Given the description of an element on the screen output the (x, y) to click on. 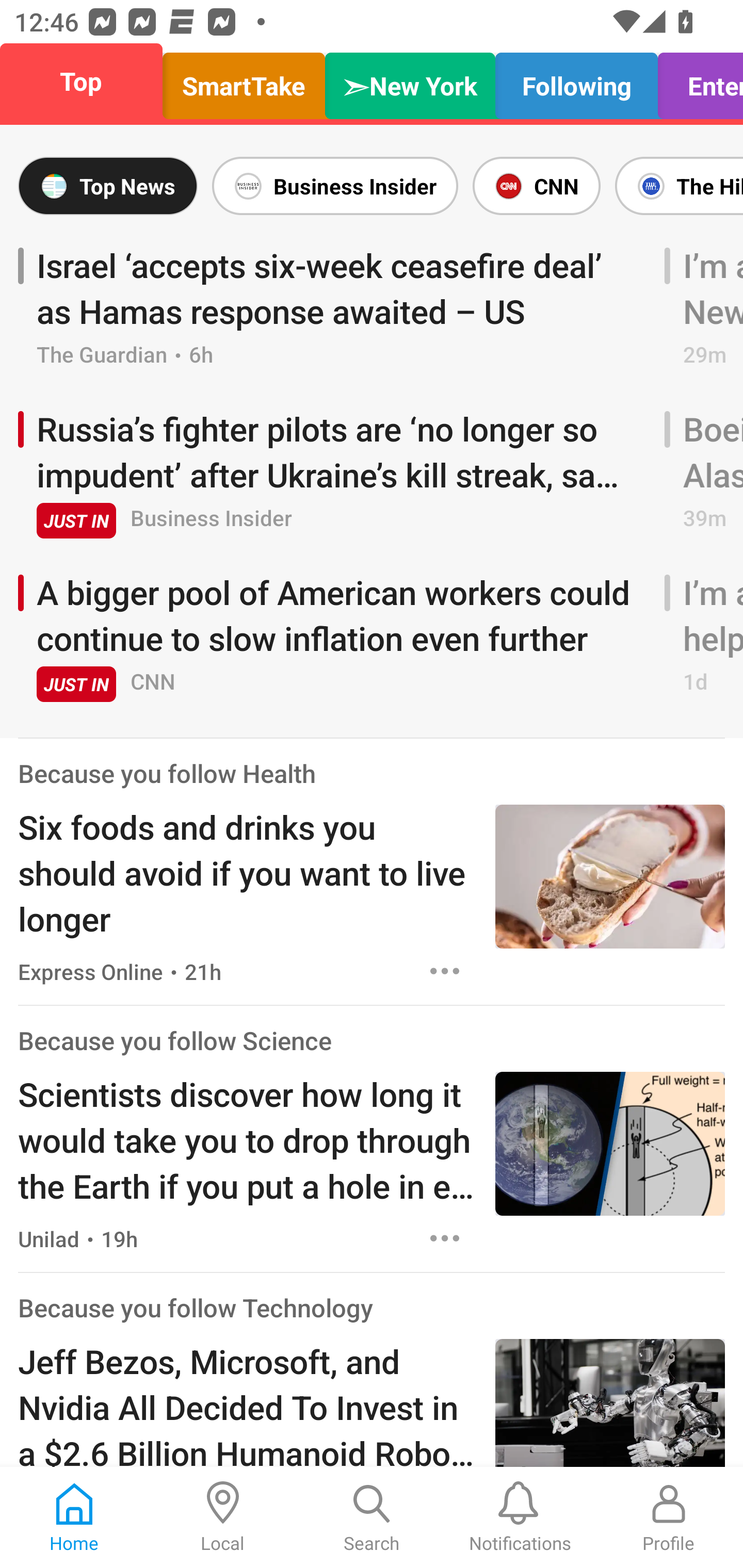
Top (86, 81)
SmartTake (243, 81)
➣New York (409, 81)
Following (576, 81)
Business Insider (335, 185)
CNN (536, 185)
JUST IN (75, 520)
JUST IN (75, 684)
Because you follow Health (166, 772)
Options (444, 971)
Because you follow Science (174, 1039)
Options (444, 1238)
Because you follow Technology (195, 1307)
Local (222, 1517)
Search (371, 1517)
Notifications (519, 1517)
Profile (668, 1517)
